Given the description of an element on the screen output the (x, y) to click on. 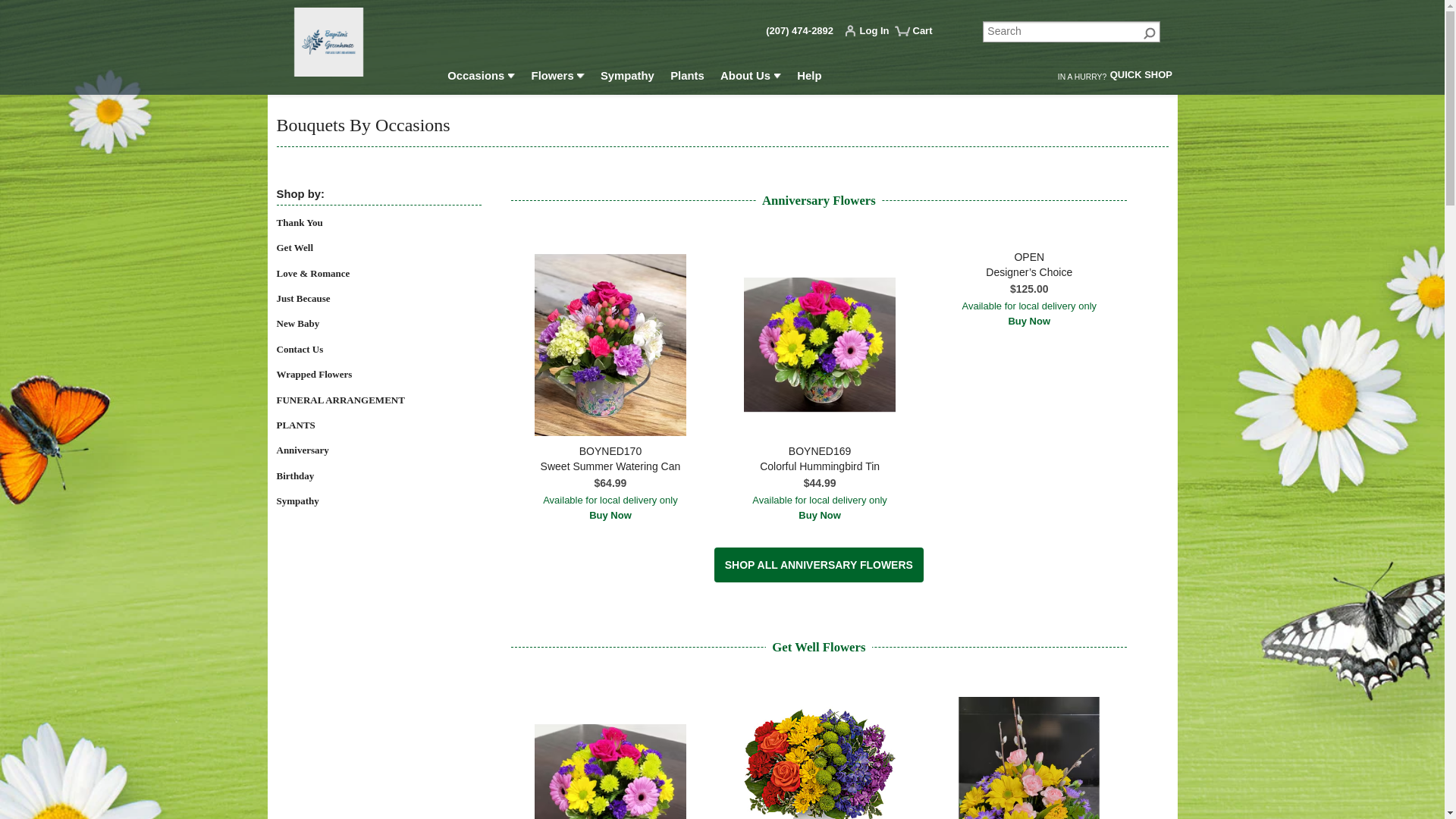
Occasions (481, 78)
Log In (870, 33)
Go (1149, 32)
Quick Shop (1140, 77)
log In (870, 33)
Flowers (557, 78)
Cart (919, 36)
Search (1071, 31)
Plants (687, 78)
Sympathy (626, 78)
About Us (750, 78)
